Given the description of an element on the screen output the (x, y) to click on. 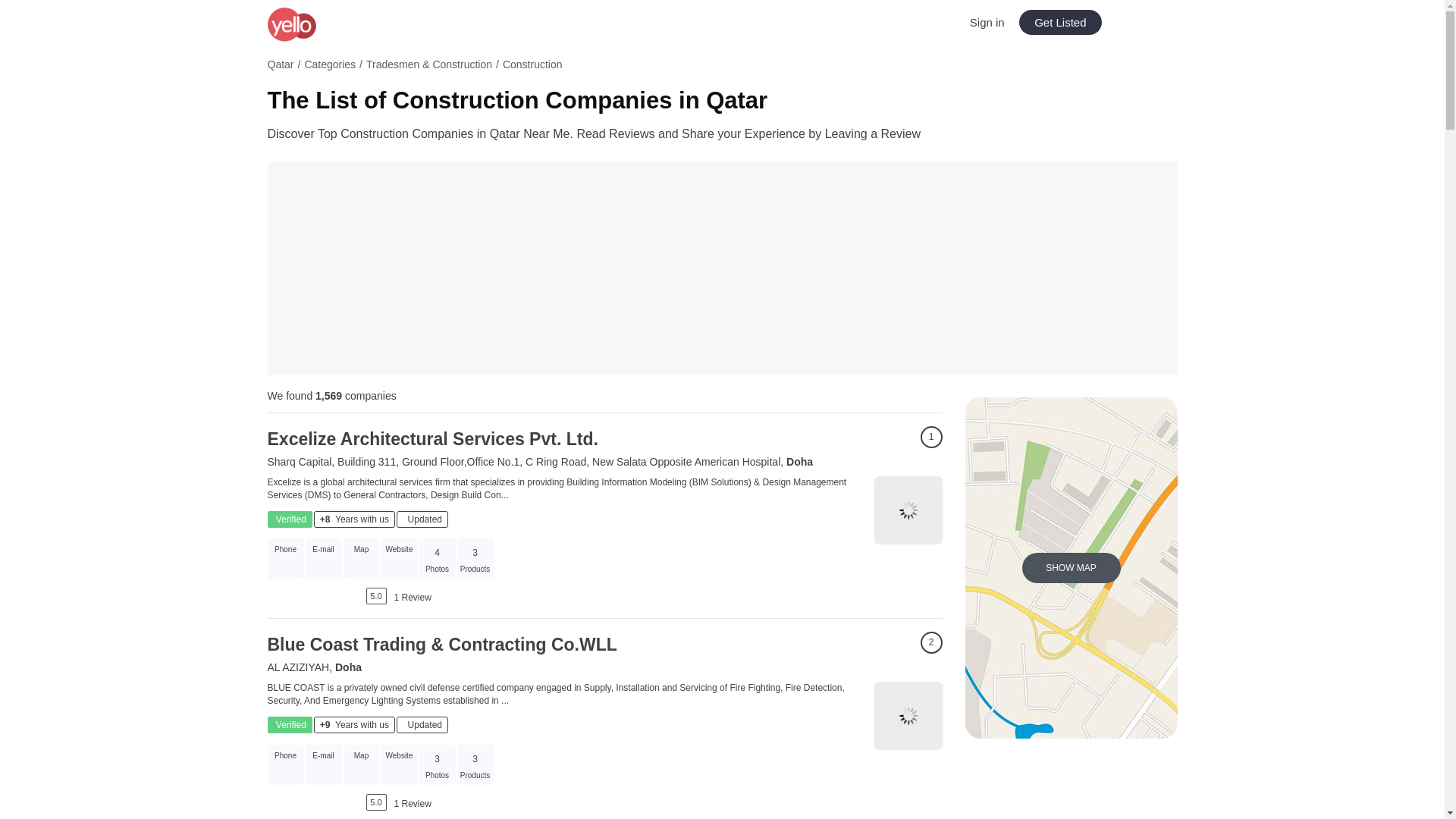
Sign in (986, 21)
Doha (799, 461)
Excelize Architectural Services Pvt. Ltd. (431, 438)
Qatar (280, 64)
Companies in Doha (799, 461)
Excelize Architectural Services Pvt. Ltd. (431, 438)
Construction (532, 64)
Categories (329, 64)
Excelize Architectural Services Pvt. Ltd. Business Page (907, 509)
Get Listed (1059, 22)
